Given the description of an element on the screen output the (x, y) to click on. 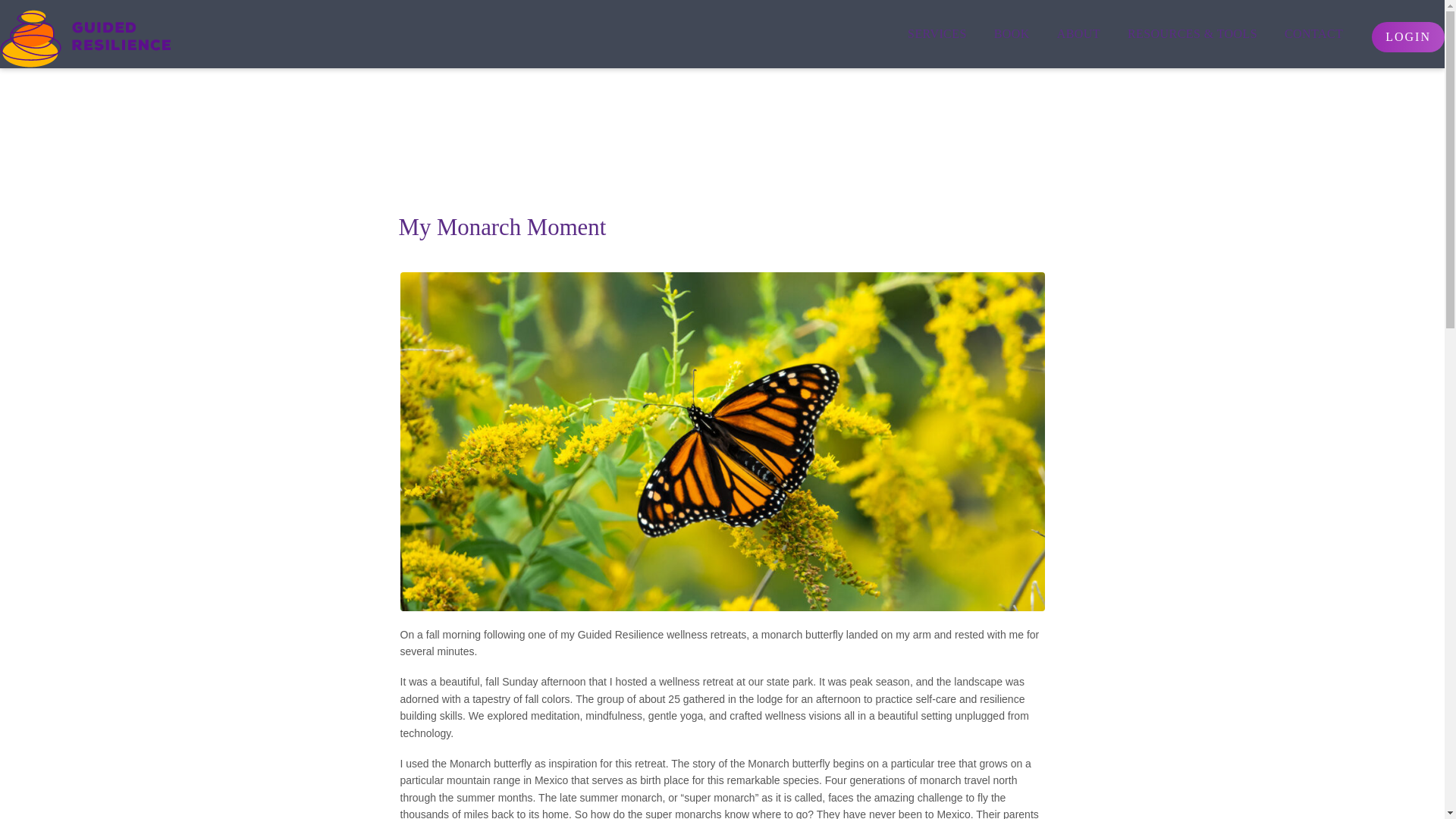
ABOUT (1078, 33)
BOOK (1011, 33)
SERVICES (936, 33)
CONTACT (1313, 33)
